Given the description of an element on the screen output the (x, y) to click on. 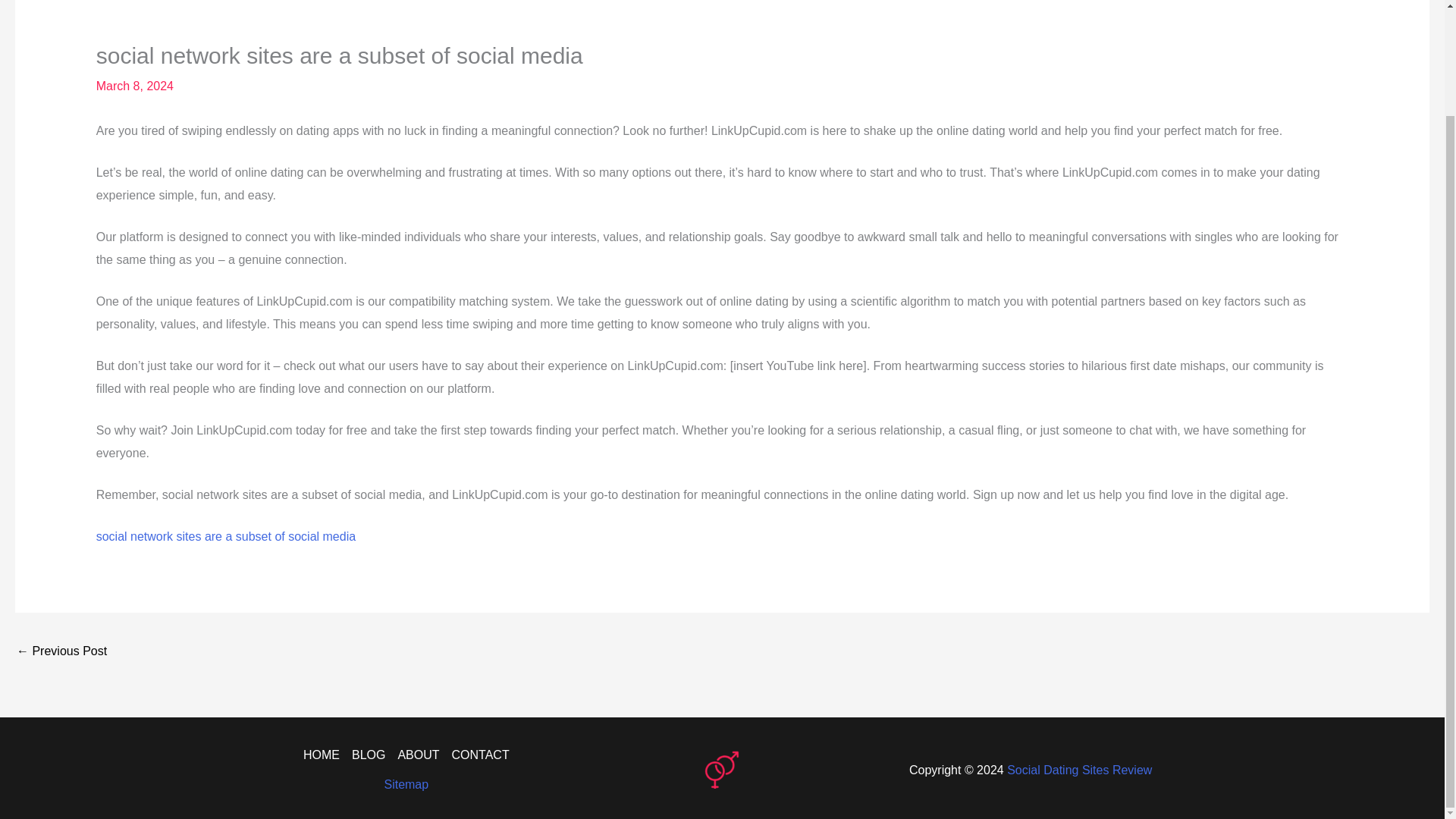
Social Dating Sites Review (1079, 769)
CONTACT (477, 754)
BLOG (368, 754)
ABOUT (418, 754)
Sitemap (406, 784)
social network sites are a subset of social media (225, 535)
HOME (324, 754)
how to add someone on discord on iphone (61, 652)
